Given the description of an element on the screen output the (x, y) to click on. 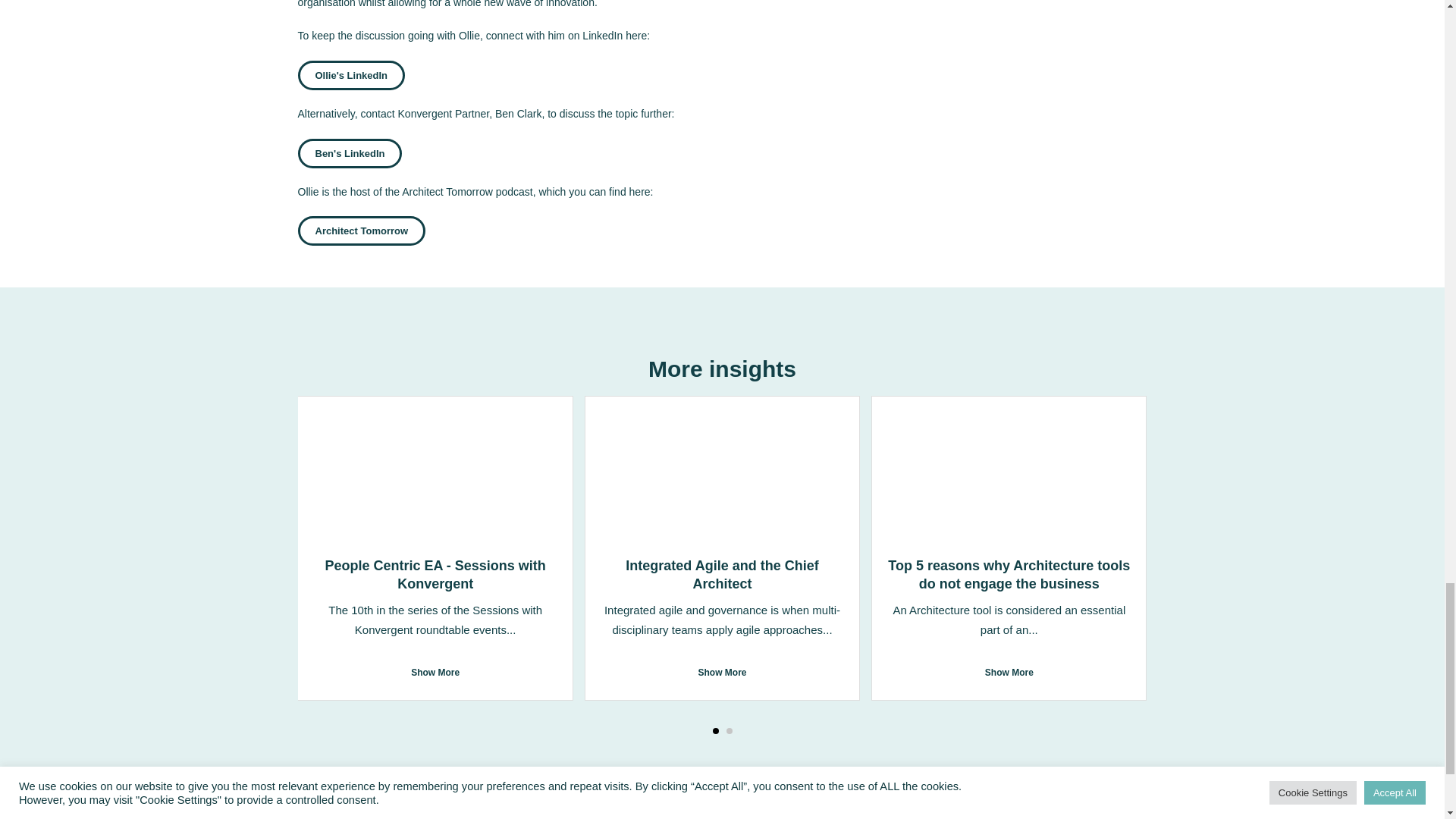
Ollie's LinkedIn (350, 75)
Show More (722, 672)
Show More (435, 672)
Ben's LinkedIn (349, 153)
Architect Tomorrow (361, 230)
